Given the description of an element on the screen output the (x, y) to click on. 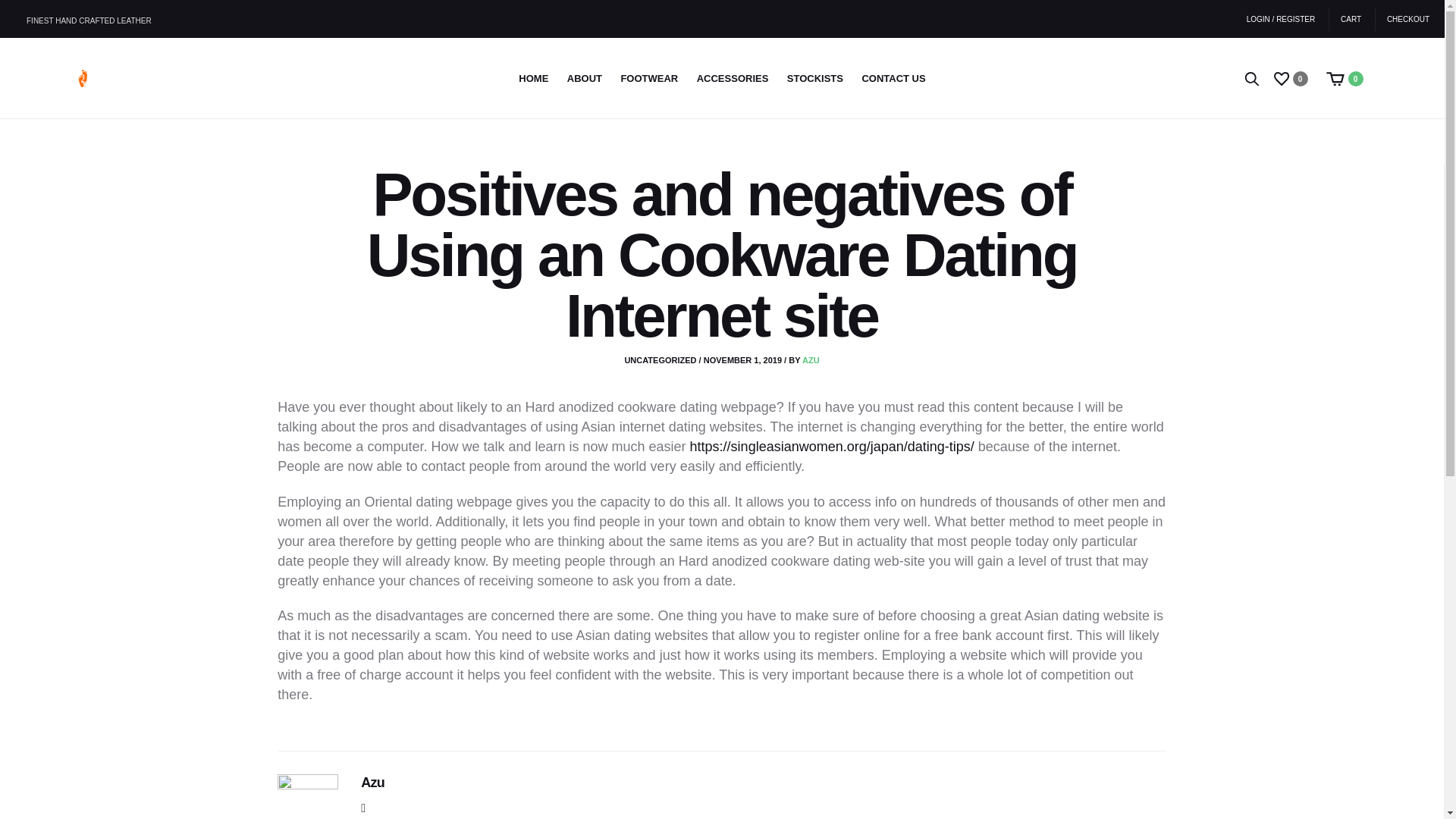
0 (1346, 76)
STOCKISTS (815, 78)
UNCATEGORIZED (659, 359)
0 (1292, 76)
CHECKOUT (1402, 19)
ABOUT (584, 78)
Azu (372, 782)
View your shopping cart (1346, 76)
CART (1351, 19)
Wishlist (1292, 76)
